Given the description of an element on the screen output the (x, y) to click on. 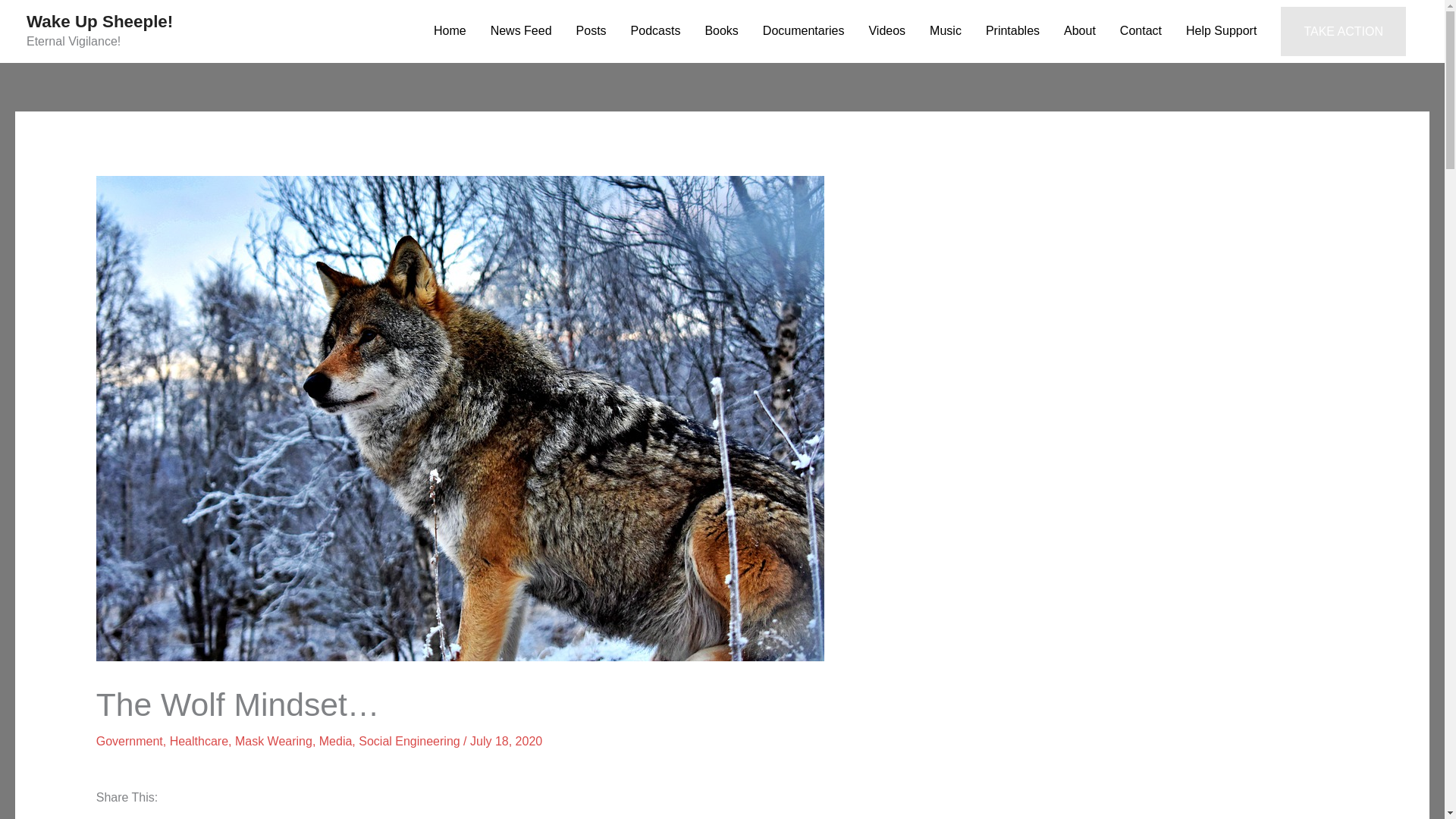
Mask Wearing (273, 740)
News Feed (521, 31)
Printables (1012, 31)
Government (129, 740)
Books (721, 31)
Documentaries (804, 31)
Podcasts (655, 31)
Videos (886, 31)
Music (945, 31)
About (1079, 31)
Help Support (1220, 31)
TAKE ACTION (1343, 31)
Posts (591, 31)
Contact (1140, 31)
Home (450, 31)
